Given the description of an element on the screen output the (x, y) to click on. 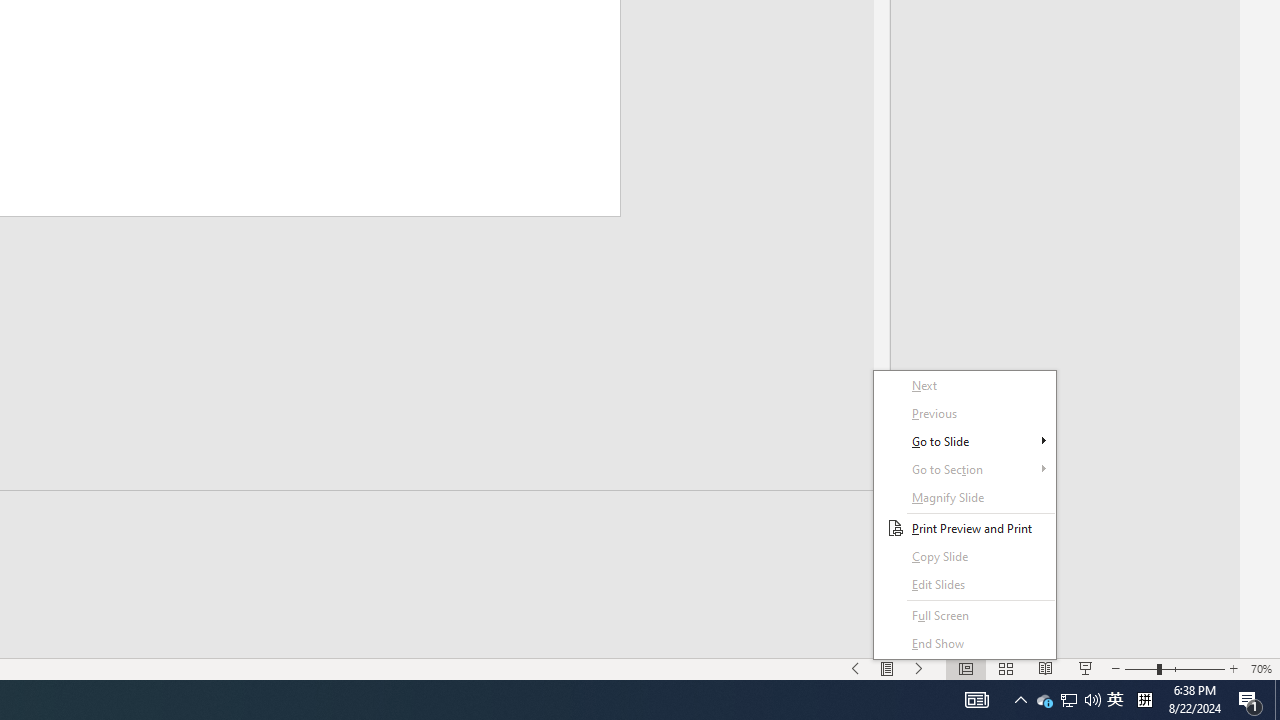
Next (964, 386)
Action Center, 1 new notification (1250, 699)
Class: NetUITWMenuContainer (964, 515)
Go to Section (964, 469)
Magnify Slide (964, 497)
Print Preview and Print (964, 528)
